Given the description of an element on the screen output the (x, y) to click on. 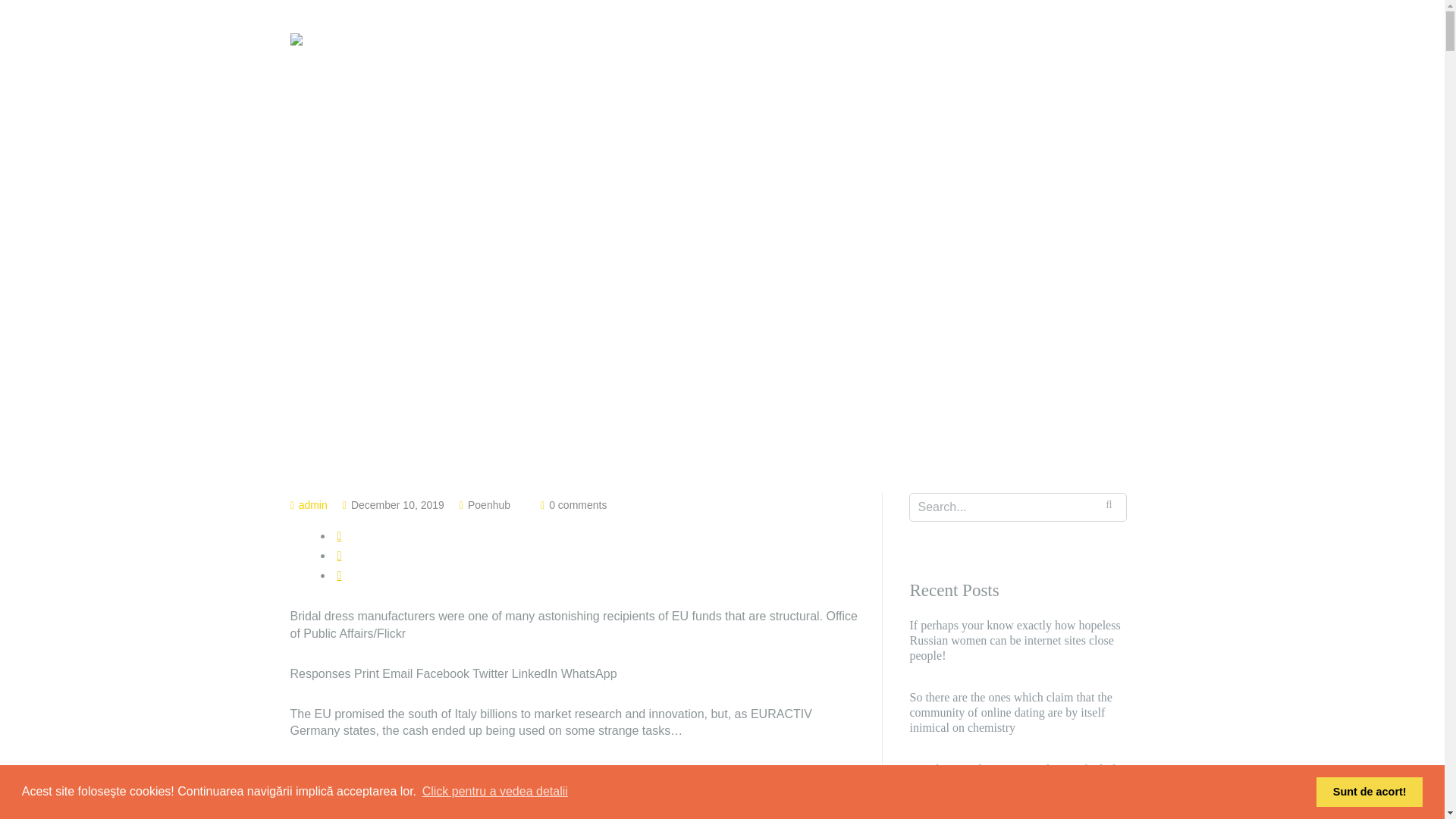
Poenhub (489, 504)
Sunt de acort! (1369, 791)
0 comments (577, 504)
Contact (1133, 59)
Istoric raliuri (1047, 59)
Despre (964, 59)
Galerie foto raliuri (865, 59)
Search for: (1017, 507)
Click pentru a vedea detalii (495, 791)
0 comments (577, 504)
